Given the description of an element on the screen output the (x, y) to click on. 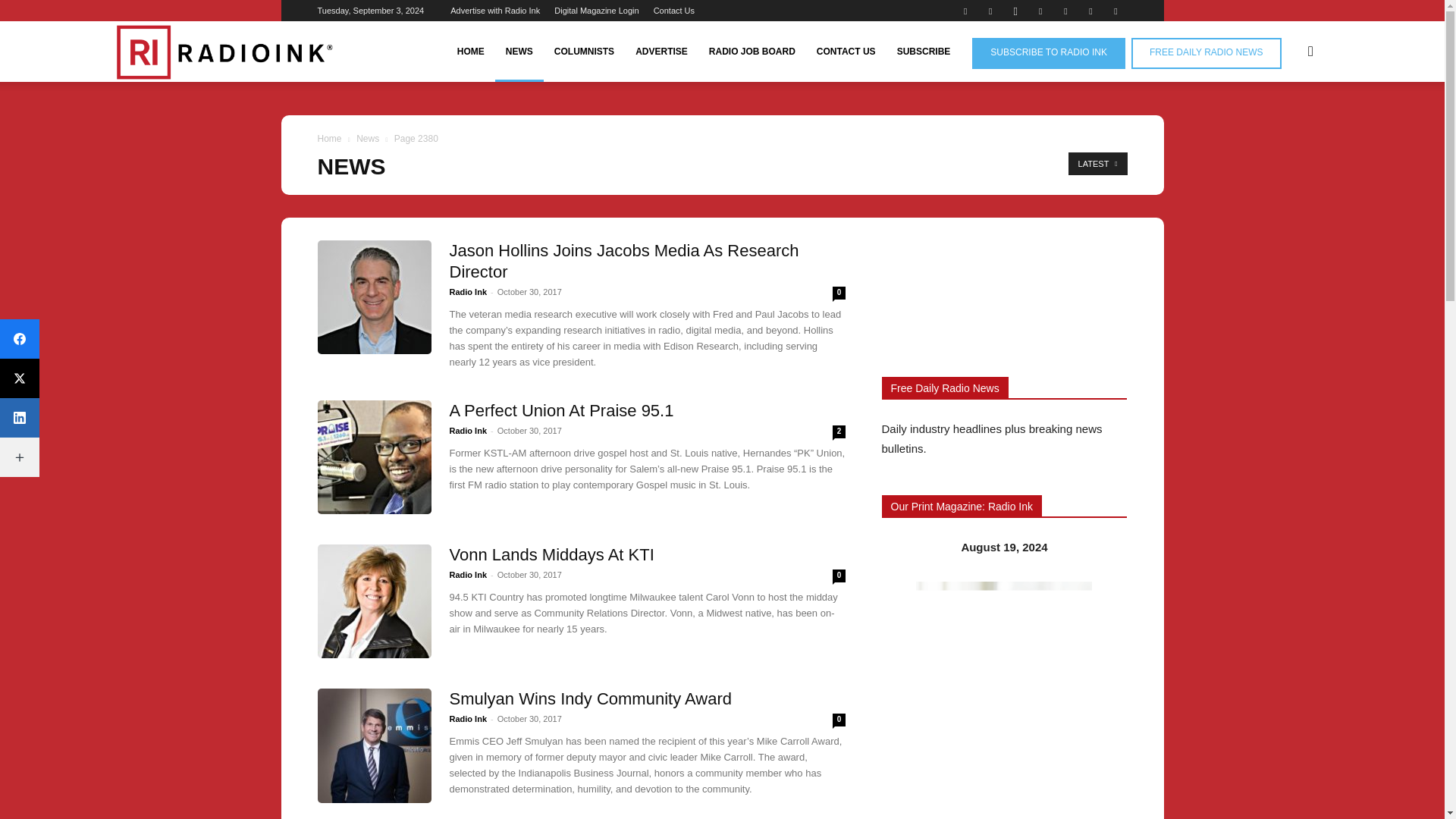
SUBSCRIBE TO RADIO INK (1048, 52)
Flickr (989, 10)
Facebook (964, 10)
FREE DAILY RADIO NEWS (1206, 52)
Instagram (1015, 10)
Soundcloud (1065, 10)
Twitter (1090, 10)
Linkedin (1040, 10)
Youtube (1114, 10)
